Given the description of an element on the screen output the (x, y) to click on. 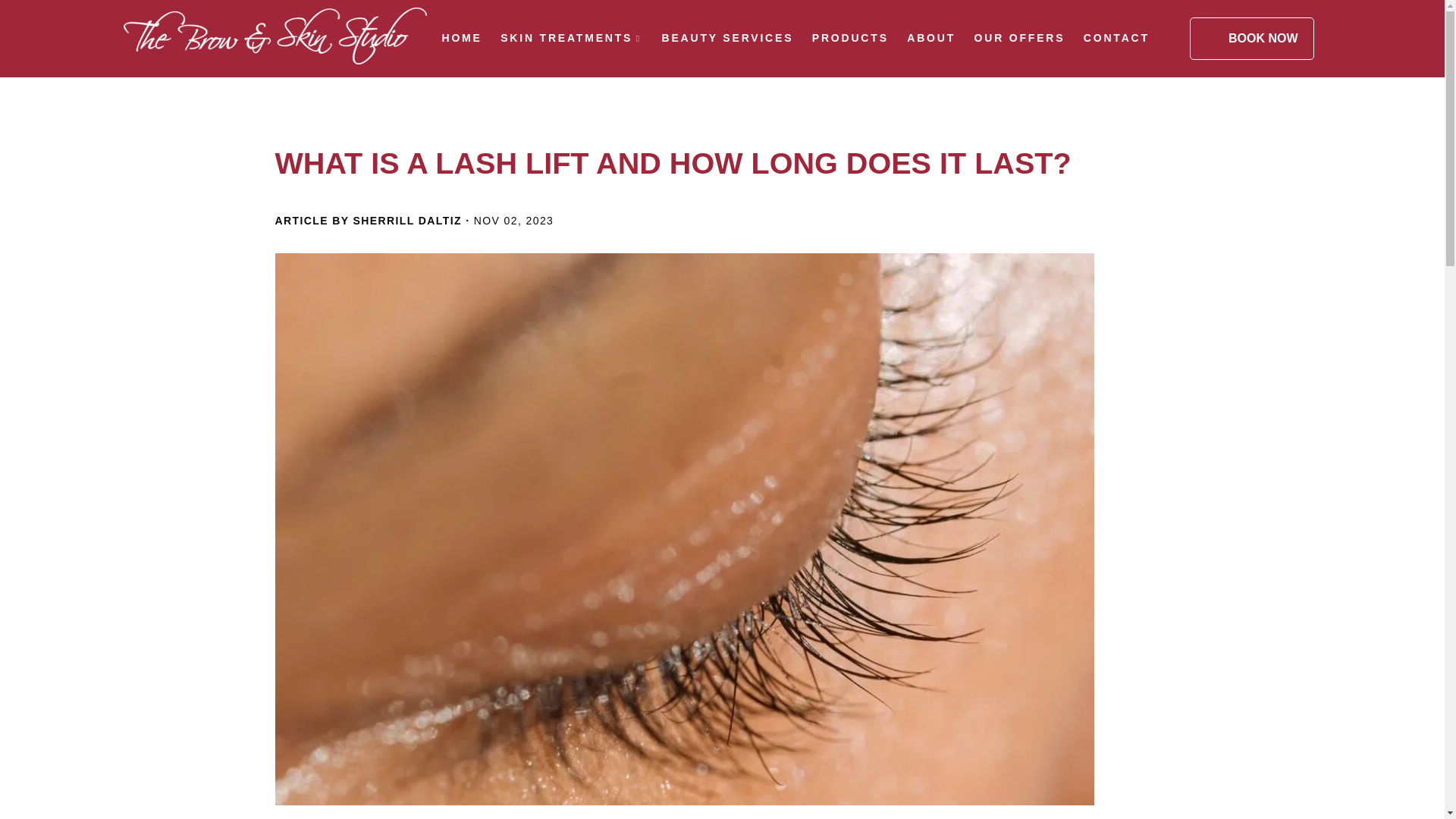
OUR OFFERS (1019, 37)
SKIN TREATMENTS (565, 37)
ABOUT (931, 37)
PRODUCTS (850, 37)
BEAUTY SERVICES (727, 37)
HOME (461, 37)
CONTACT (1116, 37)
Back to homepage (274, 38)
BOOK NOW (1251, 38)
